Given the description of an element on the screen output the (x, y) to click on. 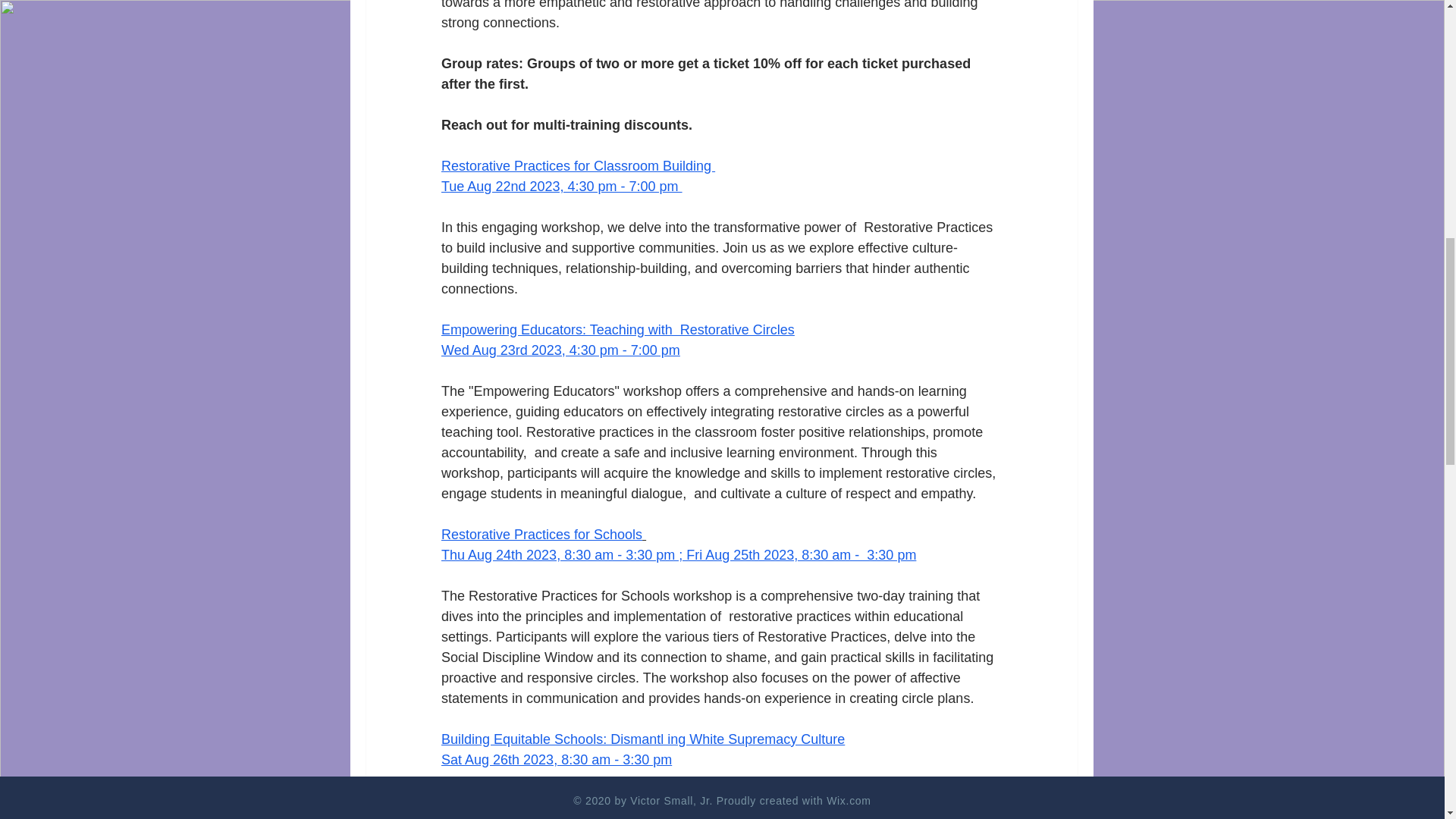
Empowering Educators: Teaching with  Restorative Circles (617, 329)
Restorative Practices for Classroom Building  (577, 165)
Restorative Practices for Schools (541, 534)
Tue Aug 22nd 2023, 4:30 pm - 7:00 pm  (561, 186)
Sat Aug 26th 2023, 8:30 am - 3:30 pm (556, 759)
Wed Aug 23rd 2023, 4:30 pm - 7:00 pm (560, 350)
